Given the description of an element on the screen output the (x, y) to click on. 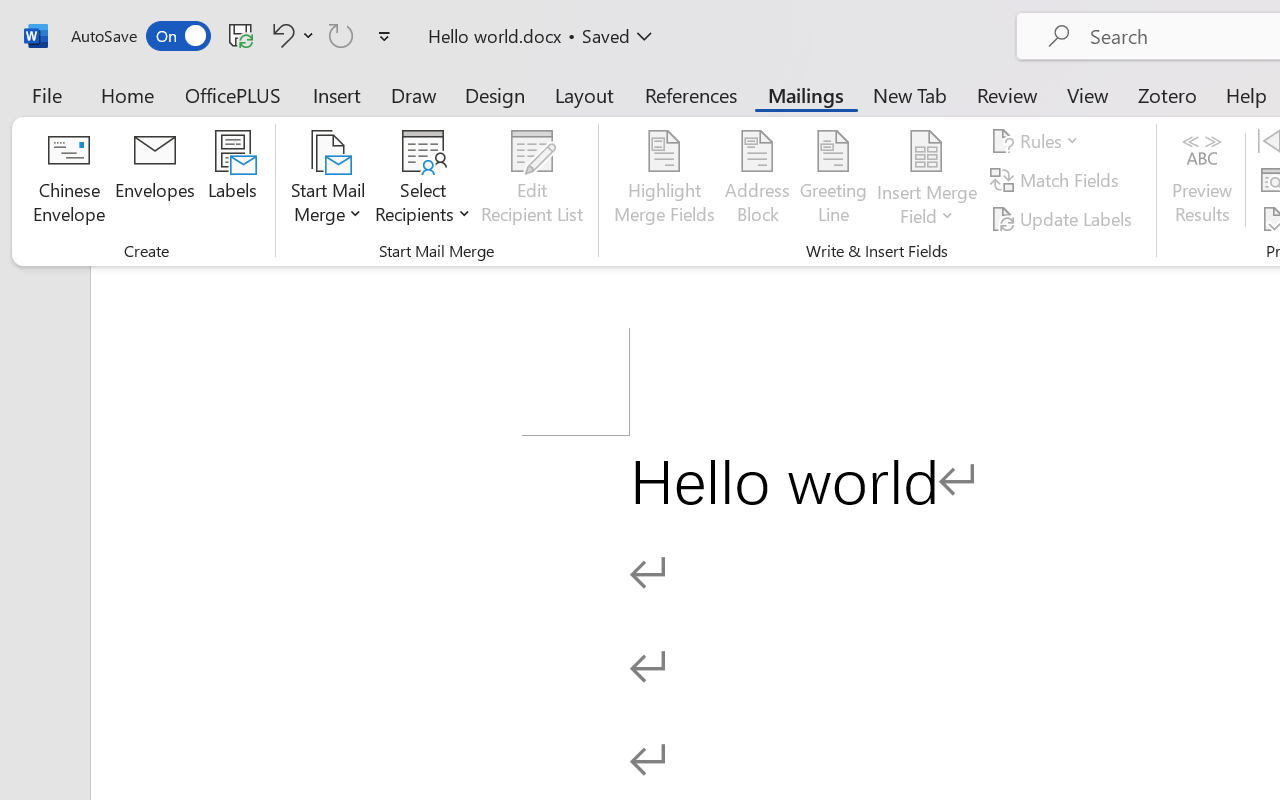
More Options (927, 208)
Select Recipients (423, 179)
Address Block... (757, 179)
Insert Merge Field (927, 151)
Review (1007, 94)
Edit Recipient List... (532, 179)
Update Labels (1064, 218)
Home (127, 94)
Layout (584, 94)
Rules (1037, 141)
AutoSave (140, 35)
View (1087, 94)
Envelopes... (155, 179)
